Given the description of an element on the screen output the (x, y) to click on. 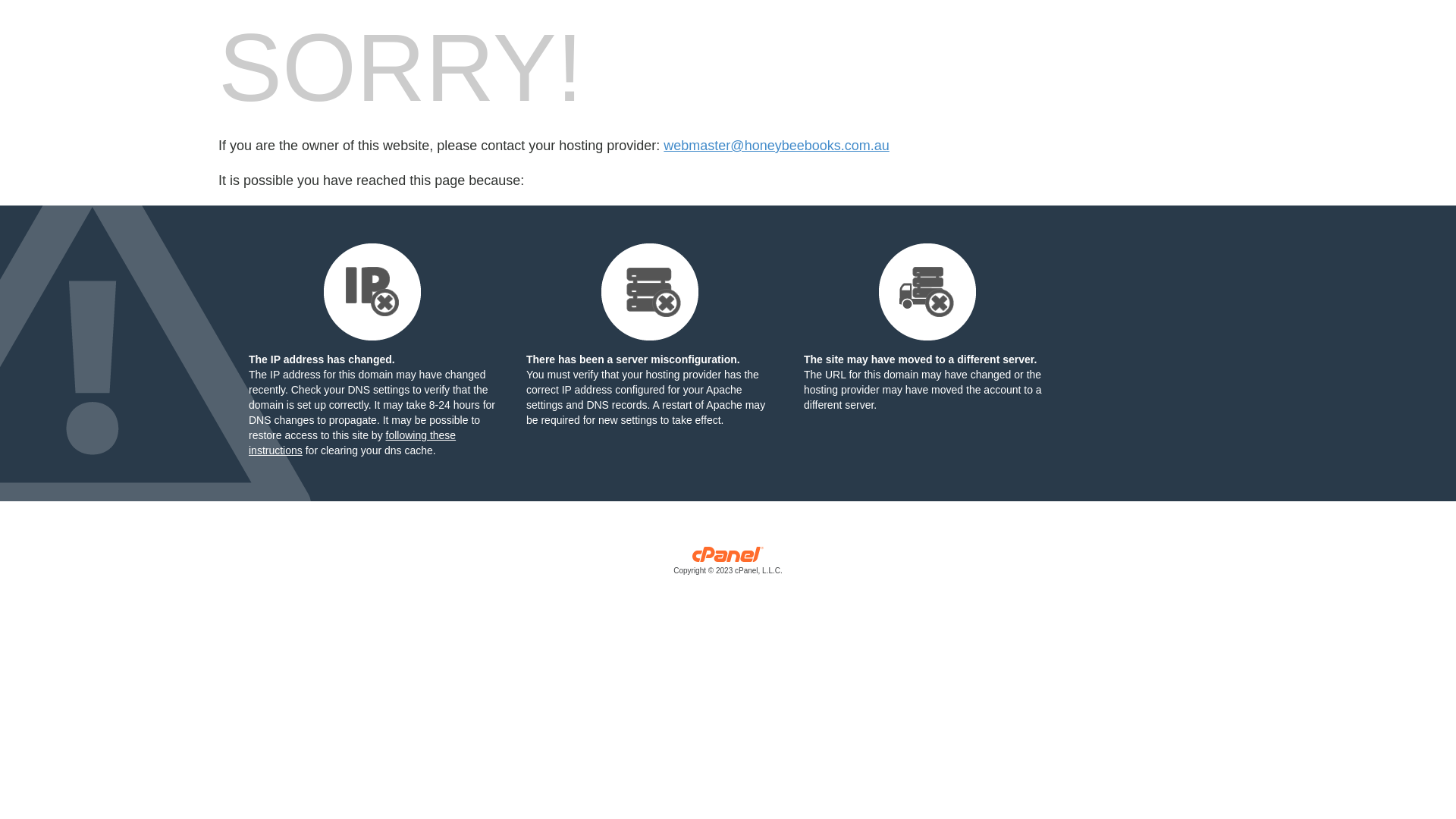
webmaster@honeybeebooks.com.au Element type: text (775, 145)
following these instructions Element type: text (351, 442)
